Given the description of an element on the screen output the (x, y) to click on. 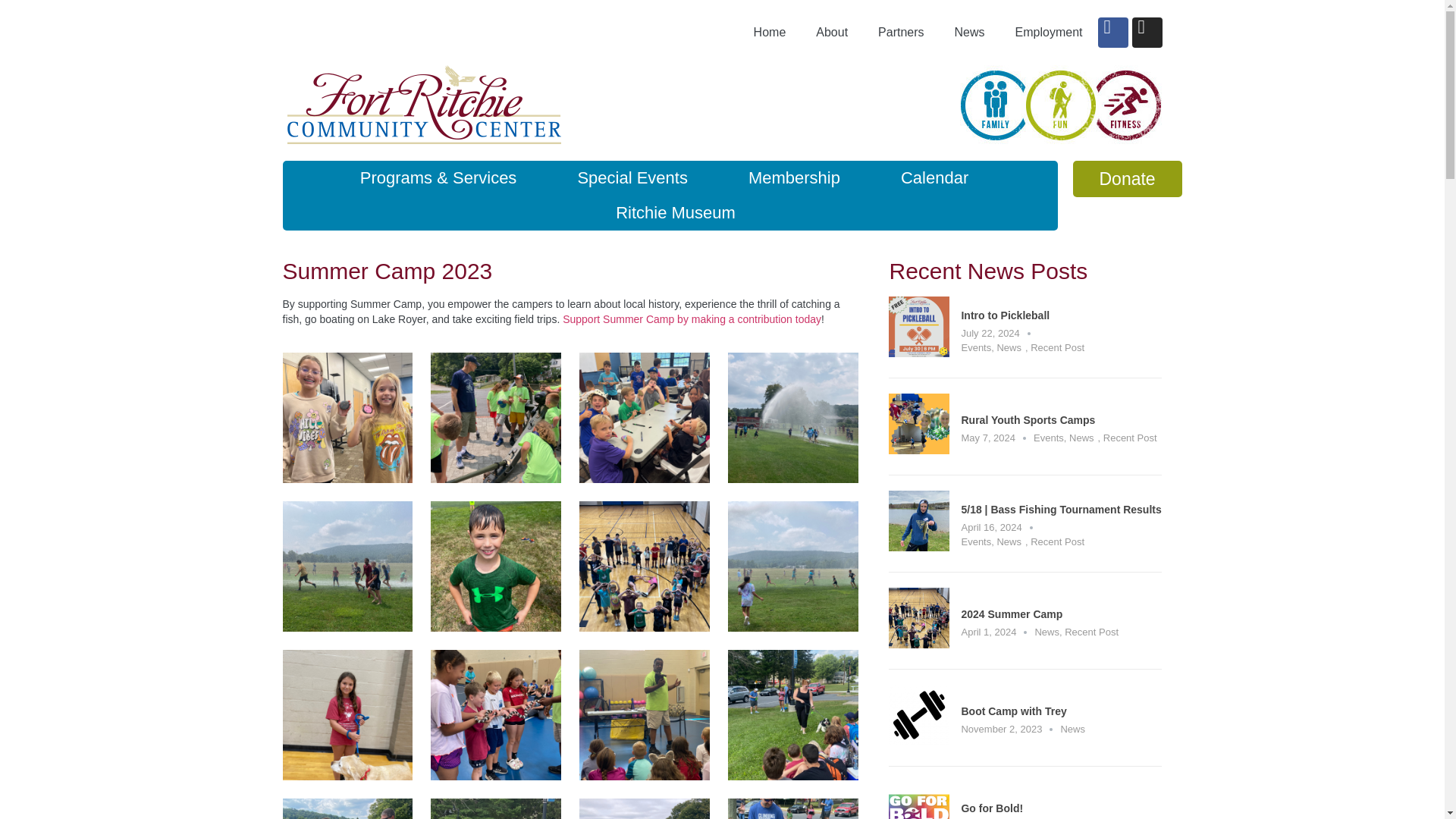
Partners (901, 32)
Boot Camp with Trey (918, 740)
Go for Bold! (991, 808)
2024 Summer Camp (918, 644)
Intro to Pickleball (1004, 315)
Rural Youth Sports Camps (918, 449)
Rural Youth Sports Camps (1027, 419)
2024 Summer Camp (1011, 613)
Boot Camp with Trey (1012, 711)
News (969, 32)
Home (770, 32)
About (831, 32)
Intro to Pickleball (918, 352)
Employment (1048, 32)
Special Events (631, 177)
